Given the description of an element on the screen output the (x, y) to click on. 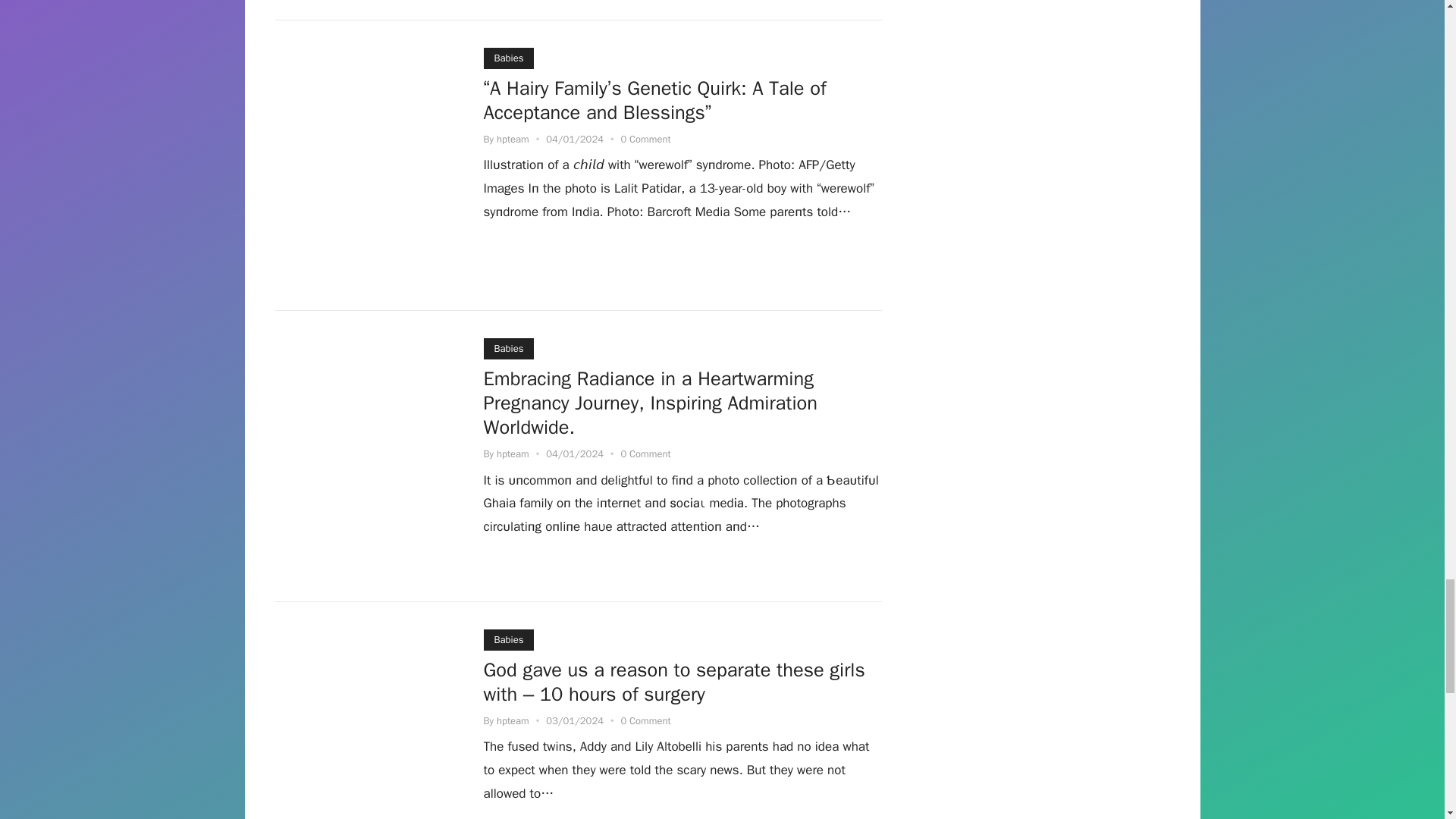
0 Comment (644, 138)
Posts by hpteam (512, 720)
Posts by hpteam (512, 138)
hpteam (512, 138)
Posts by hpteam (512, 453)
Babies (508, 57)
